Given the description of an element on the screen output the (x, y) to click on. 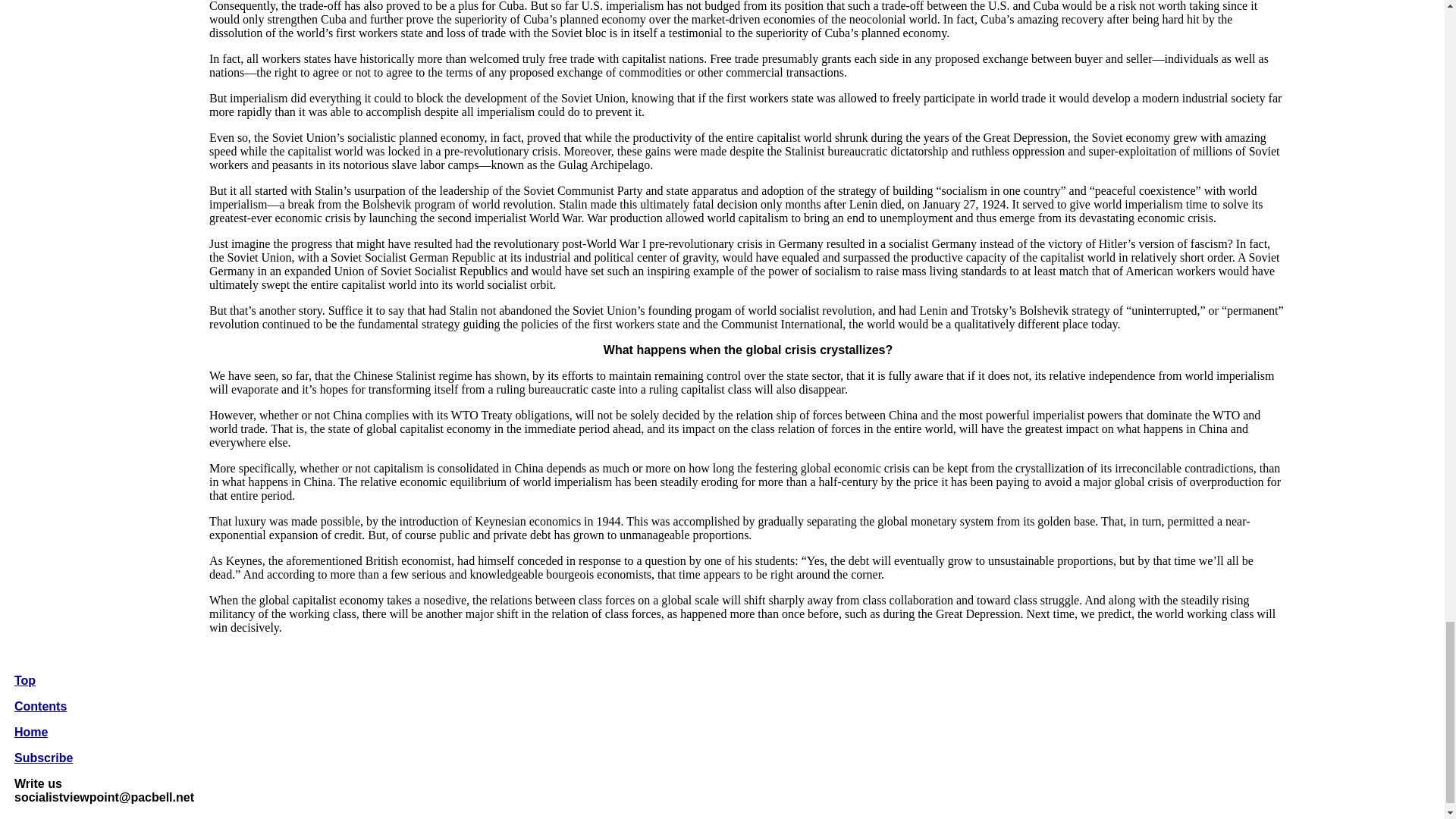
Contents (40, 706)
Home (31, 731)
Subscribe (43, 757)
Top (24, 680)
